Given the description of an element on the screen output the (x, y) to click on. 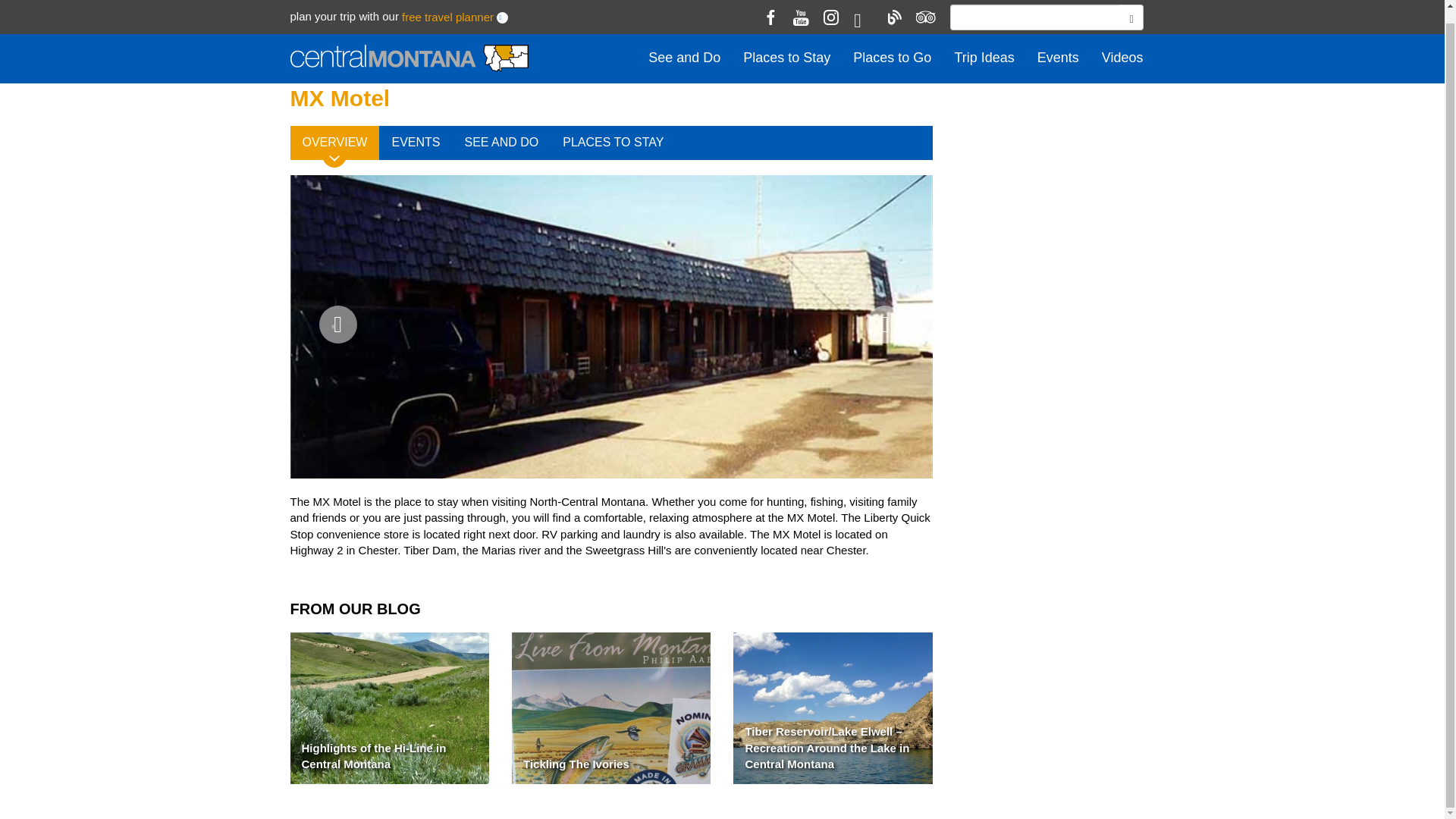
Central Montana Blog (893, 7)
View us on YouTube (800, 7)
See and Do (684, 44)
Central Montana (408, 45)
Order Travel Planner (502, 5)
Order Travel Planner (447, 5)
Follow us on Twitter (862, 9)
TripAdvisor Central Montana (924, 7)
Pin us on Instagram (831, 7)
free travel planner (447, 5)
Like us on Facebook (770, 7)
